Given the description of an element on the screen output the (x, y) to click on. 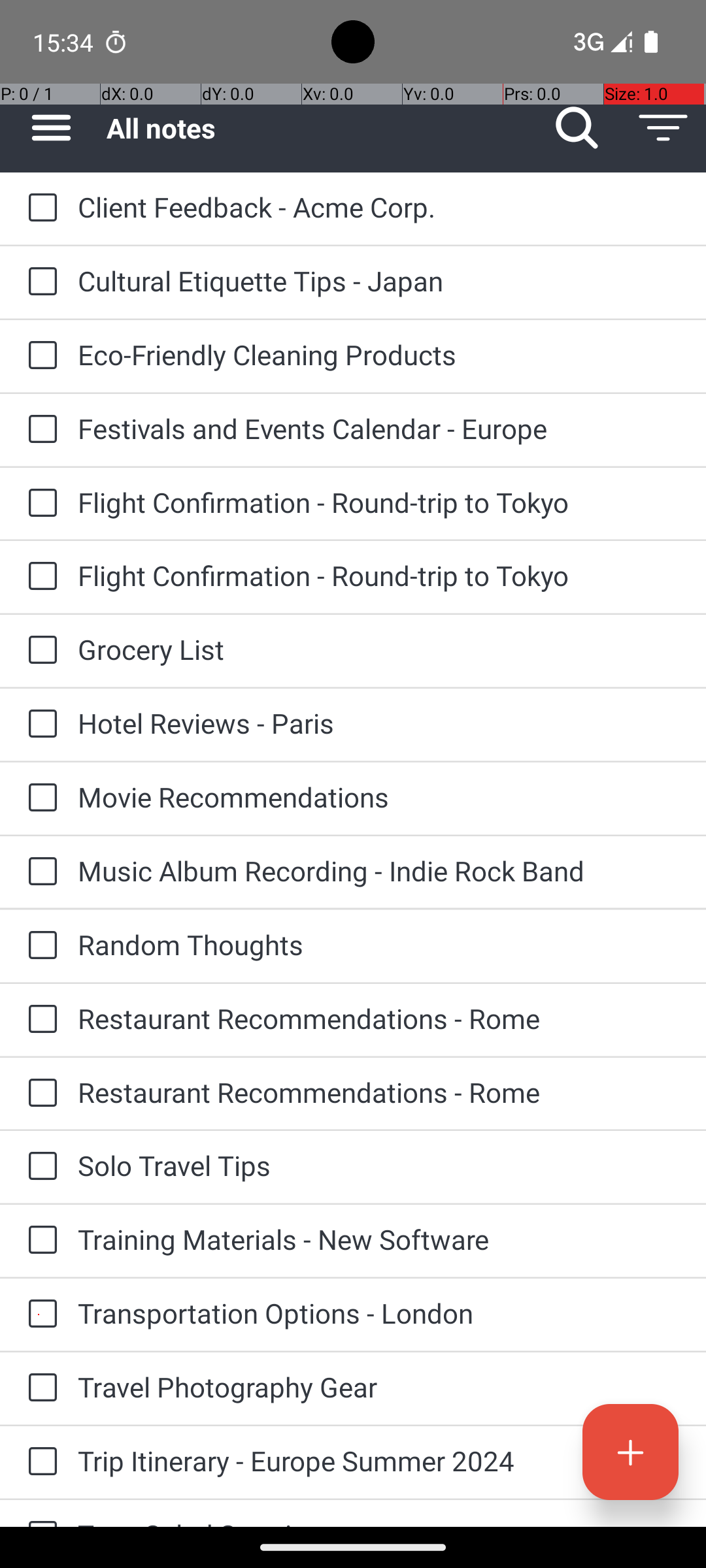
to-do: Client Feedback - Acme Corp. Element type: android.widget.CheckBox (38, 208)
Client Feedback - Acme Corp. Element type: android.widget.TextView (378, 206)
to-do: Cultural Etiquette Tips - Japan Element type: android.widget.CheckBox (38, 282)
Cultural Etiquette Tips - Japan Element type: android.widget.TextView (378, 280)
to-do: Eco-Friendly Cleaning Products Element type: android.widget.CheckBox (38, 356)
to-do: Festivals and Events Calendar - Europe Element type: android.widget.CheckBox (38, 429)
Festivals and Events Calendar - Europe Element type: android.widget.TextView (378, 427)
to-do: Flight Confirmation - Round-trip to Tokyo Element type: android.widget.CheckBox (38, 503)
to-do: Hotel Reviews - Paris Element type: android.widget.CheckBox (38, 724)
Hotel Reviews - Paris Element type: android.widget.TextView (378, 722)
to-do: Movie Recommendations Element type: android.widget.CheckBox (38, 798)
Movie Recommendations Element type: android.widget.TextView (378, 796)
to-do: Random Thoughts Element type: android.widget.CheckBox (38, 945)
Random Thoughts Element type: android.widget.TextView (378, 944)
to-do: Solo Travel Tips Element type: android.widget.CheckBox (38, 1166)
Solo Travel Tips Element type: android.widget.TextView (378, 1164)
to-do: Training Materials - New Software Element type: android.widget.CheckBox (38, 1240)
Training Materials - New Software Element type: android.widget.TextView (378, 1238)
to-do: Transportation Options - London Element type: android.widget.CheckBox (38, 1314)
Transportation Options - London Element type: android.widget.TextView (378, 1312)
to-do: Travel Photography Gear Element type: android.widget.CheckBox (38, 1388)
Travel Photography Gear Element type: android.widget.TextView (378, 1386)
to-do: Trip Itinerary - Europe Summer 2024 Element type: android.widget.CheckBox (38, 1462)
Trip Itinerary - Europe Summer 2024 Element type: android.widget.TextView (378, 1460)
to-do: Tuna Salad Surprise Element type: android.widget.CheckBox (38, 1513)
Tuna Salad Surprise Element type: android.widget.TextView (378, 1520)
